Given the description of an element on the screen output the (x, y) to click on. 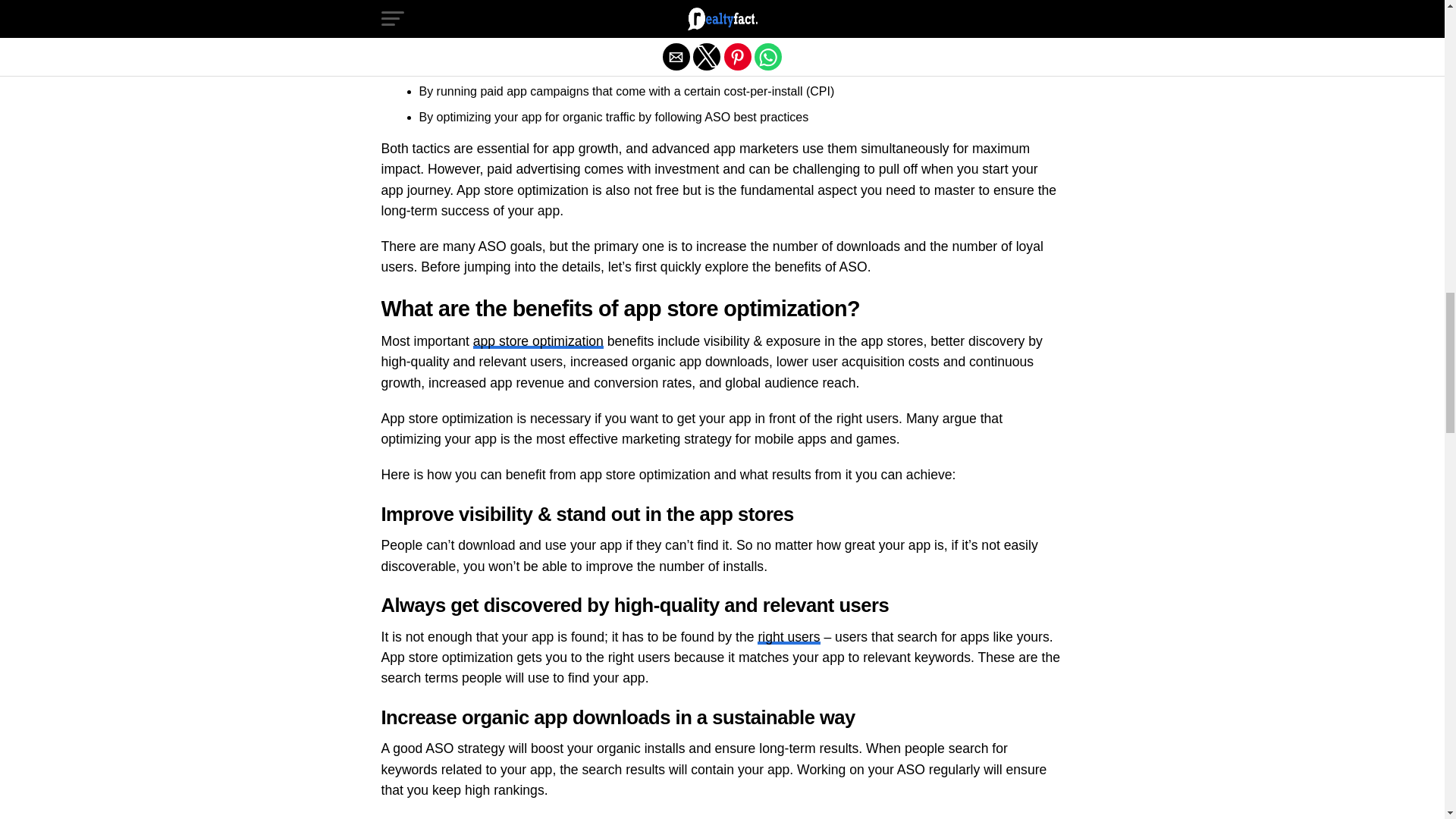
app store optimization (538, 340)
right users (788, 636)
